Given the description of an element on the screen output the (x, y) to click on. 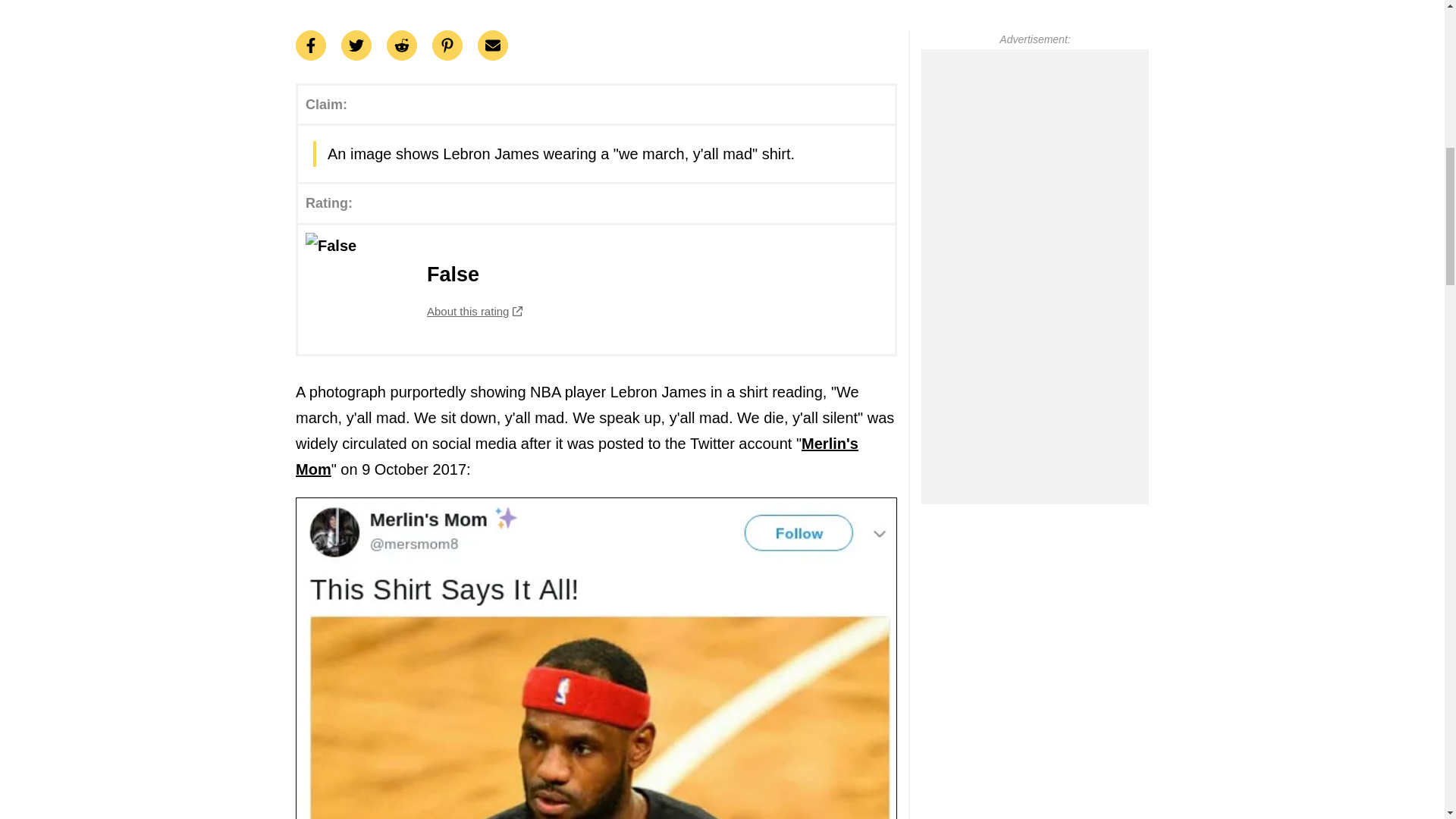
Merlin's Mom (595, 289)
